Given the description of an element on the screen output the (x, y) to click on. 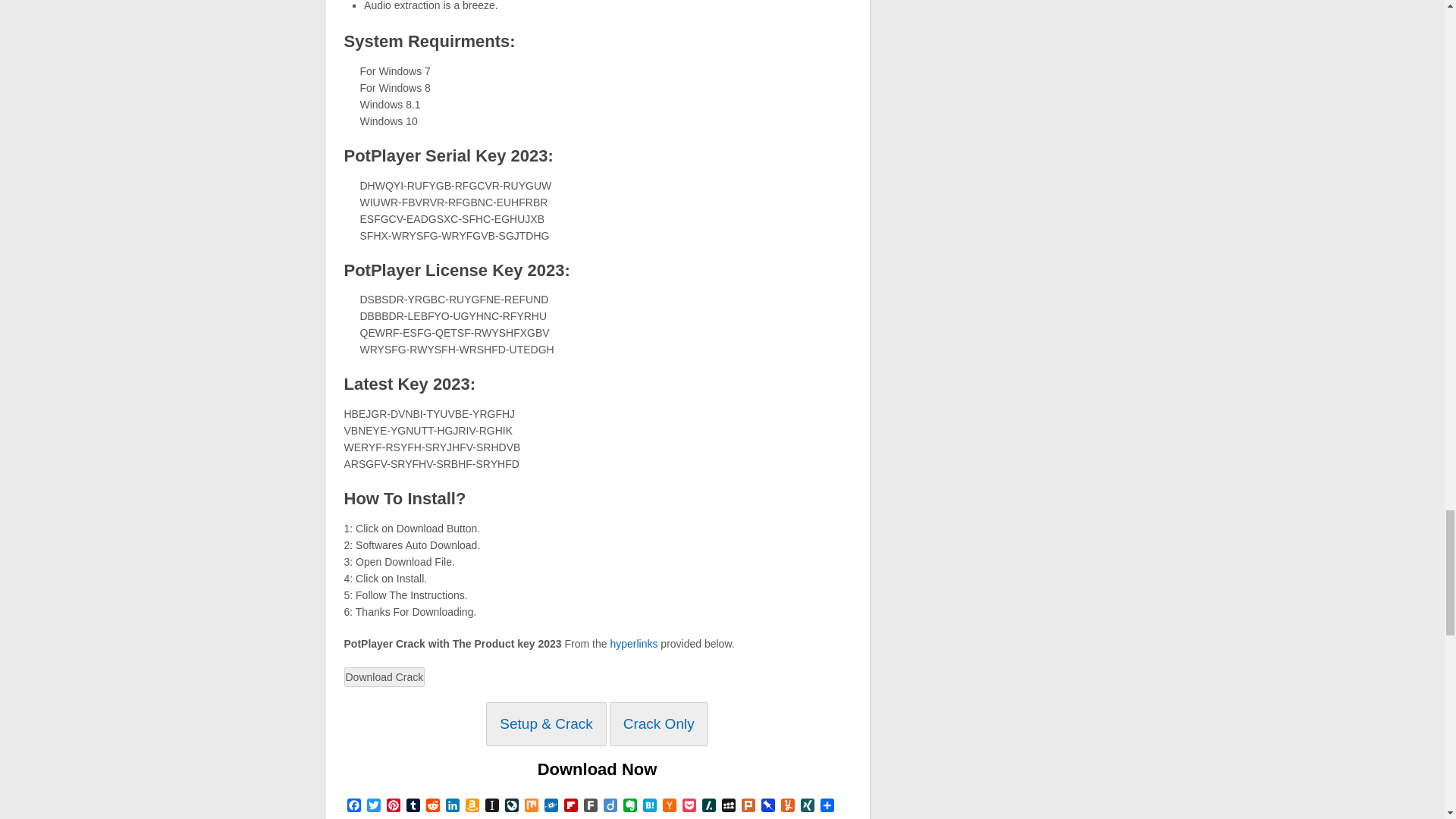
Download Now (597, 769)
